Given the description of an element on the screen output the (x, y) to click on. 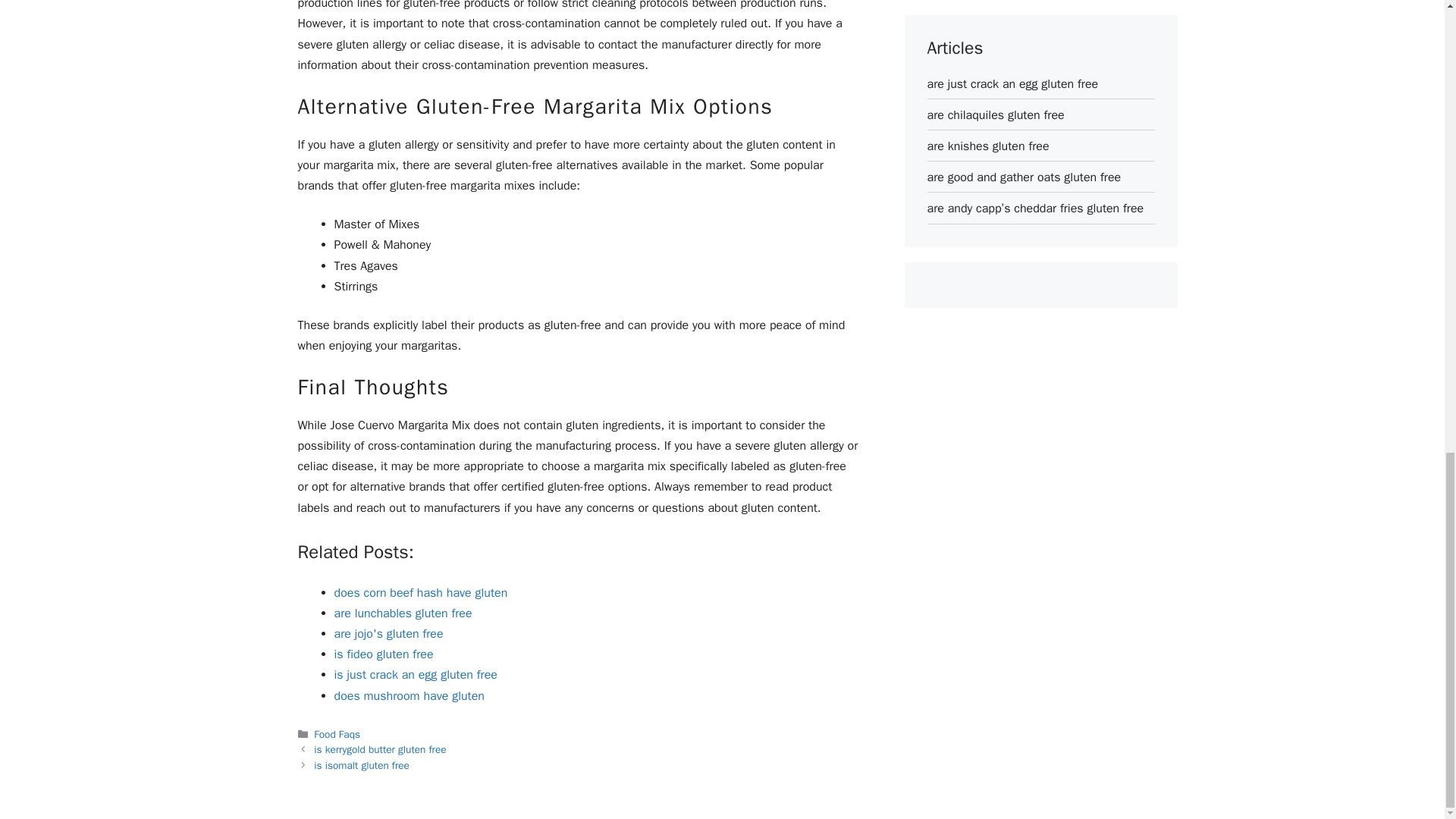
does corn beef hash have gluten (419, 592)
is isomalt gluten free (361, 765)
is fideo gluten free (382, 654)
does mushroom have gluten (408, 695)
are lunchables gluten free (402, 613)
is just crack an egg gluten free (414, 674)
are jojo's gluten free (387, 633)
Food Faqs (336, 734)
is kerrygold butter gluten free (379, 748)
